Given the description of an element on the screen output the (x, y) to click on. 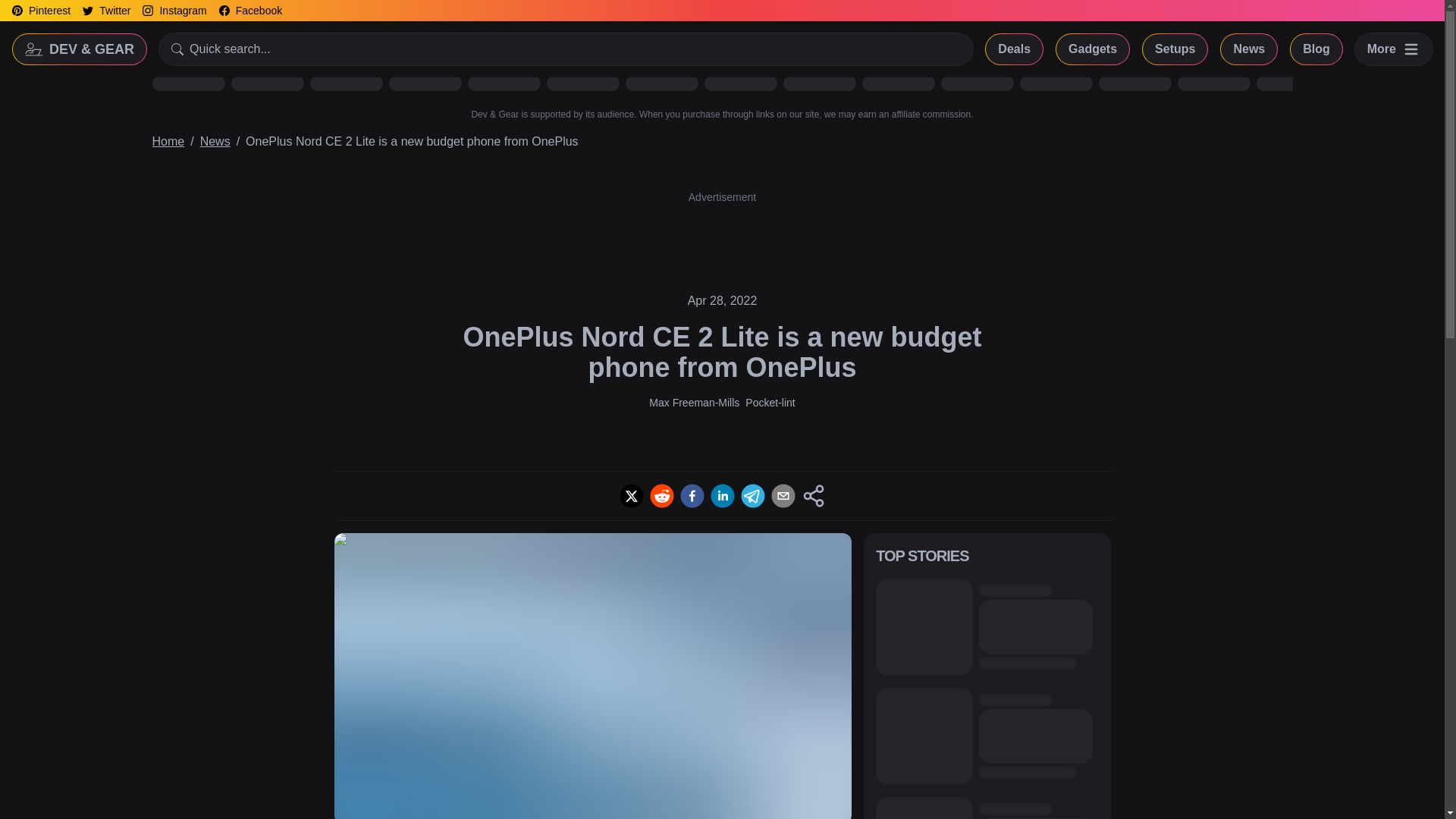
Facebook (250, 10)
Quick search... (565, 49)
News (215, 141)
Pocket-lint (769, 402)
Pinterest (40, 10)
Home (167, 141)
Setups (1174, 49)
Deals (1013, 49)
More (1393, 49)
Twitter (106, 10)
